Given the description of an element on the screen output the (x, y) to click on. 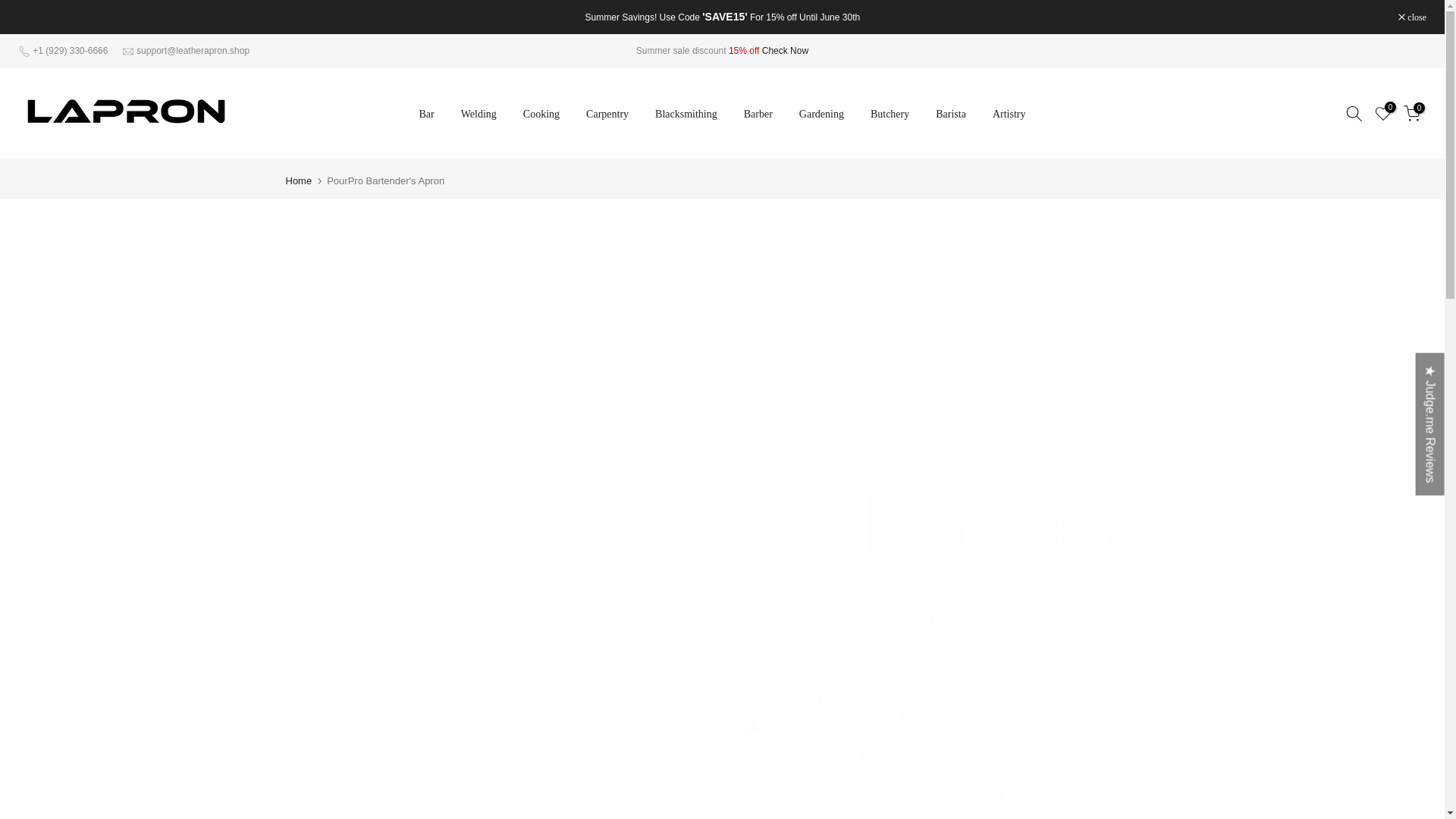
Carpentry (607, 113)
Cooking (540, 113)
Shipping (839, 308)
Home (298, 180)
Artistry (1008, 113)
Bar (426, 113)
0 (1412, 112)
Butchery (889, 113)
close (1411, 16)
ADD TO CART (979, 757)
Skip to content (10, 7)
Blacksmithing (686, 113)
1 (861, 756)
LEATHER BLACKSMITH APRONS (784, 50)
Check Now (784, 50)
